Given the description of an element on the screen output the (x, y) to click on. 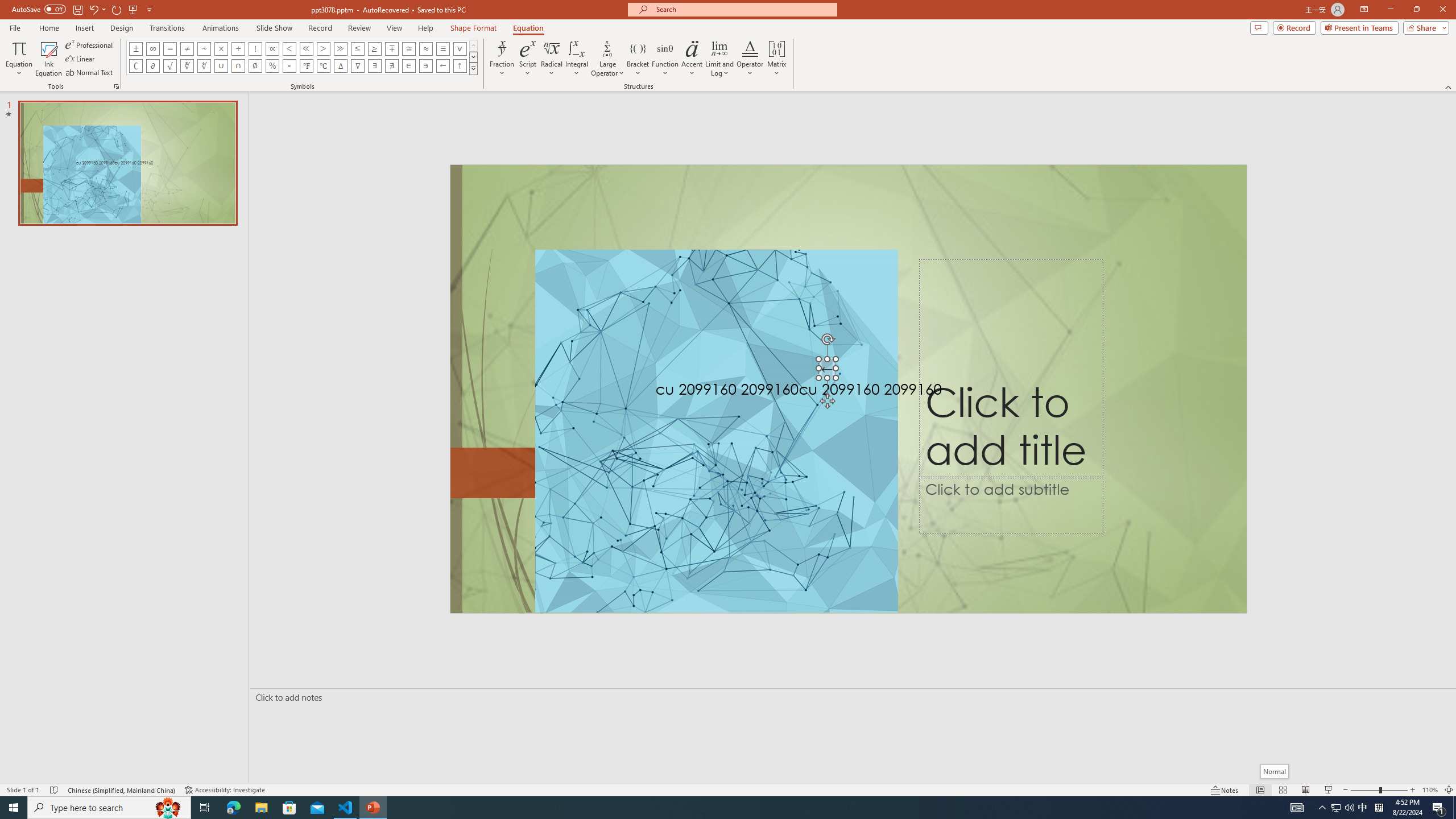
Equation Symbol Factorial (255, 48)
Limit and Log (719, 58)
Equation Symbol Proportional To (272, 48)
Equation Symbol Degrees (289, 65)
Equation Symbol Degrees Fahrenheit (306, 65)
Matrix (776, 58)
Equation Symbol Element Of (408, 65)
Zoom 110% (1430, 790)
